Given the description of an element on the screen output the (x, y) to click on. 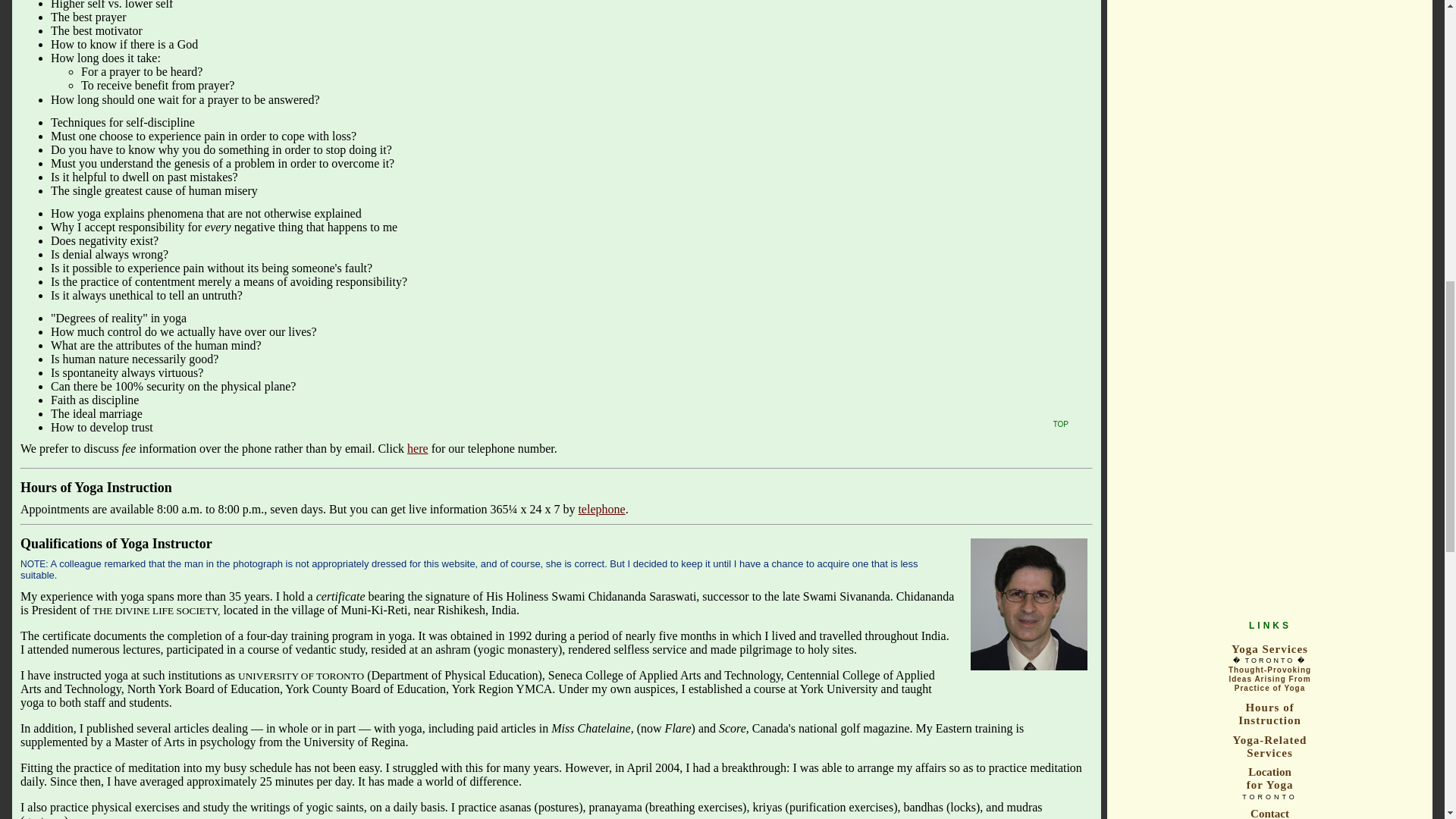
here (417, 448)
Hours of Yoga Instruction (95, 487)
TOP (1060, 422)
telephone (601, 508)
